Given the description of an element on the screen output the (x, y) to click on. 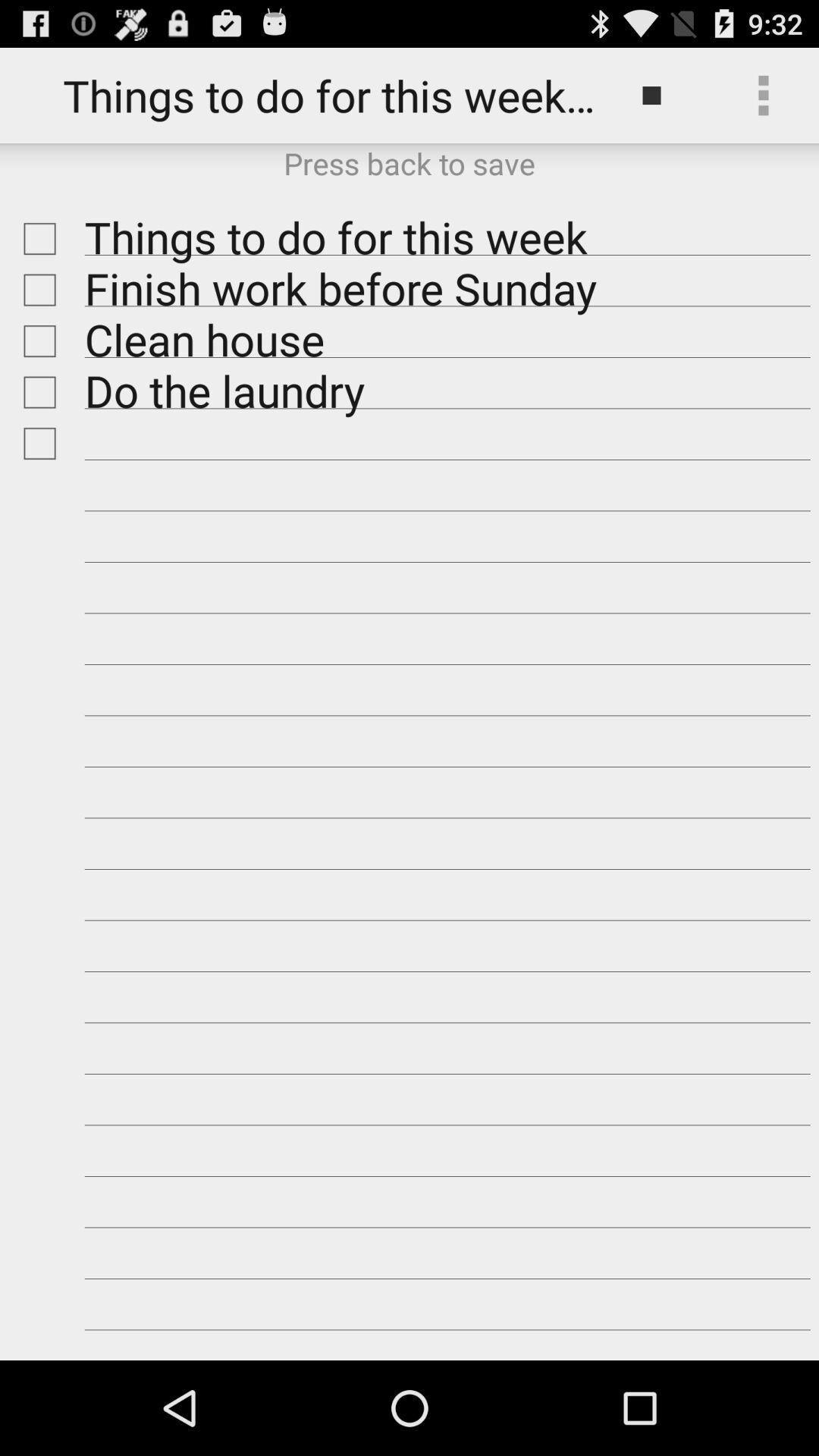
select option (35, 238)
